Given the description of an element on the screen output the (x, y) to click on. 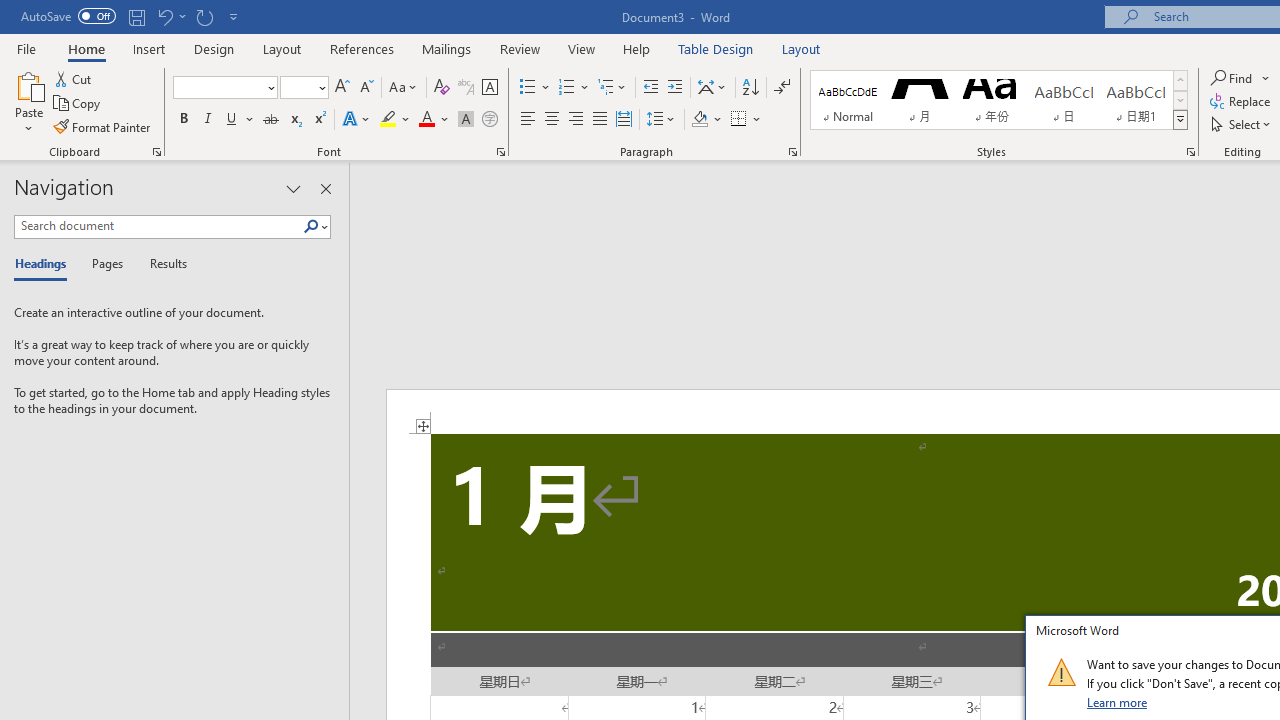
Open (320, 87)
Customize Quick Access Toolbar (234, 15)
Italic (207, 119)
Repeat Shrink Font (204, 15)
Underline (232, 119)
Paragraph... (792, 151)
Copy (78, 103)
AutoSave (68, 16)
Table Design (715, 48)
